Given the description of an element on the screen output the (x, y) to click on. 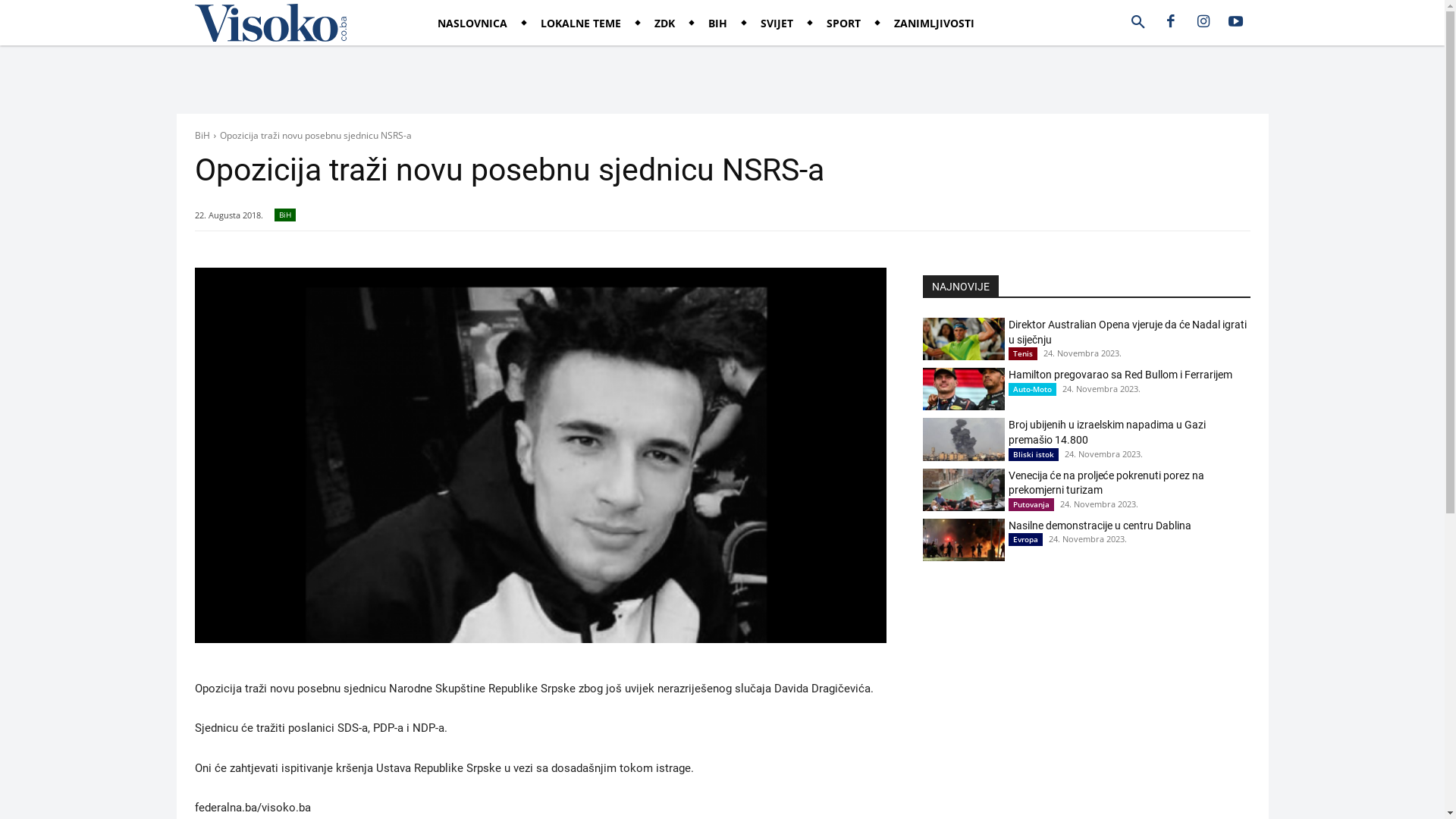
Facebook Element type: hover (1169, 22)
BIH Element type: text (717, 23)
BiH Element type: text (201, 134)
Nasilne demonstracije u centru Dablina Element type: text (1099, 525)
Instagram Element type: hover (1203, 22)
LOKALNE TEME Element type: text (580, 23)
Putovanja Element type: text (1031, 504)
Auto-Moto Element type: text (1032, 388)
Youtube Element type: hover (1234, 22)
Hamilton pregovarao sa Red Bullom i Ferrarijem Element type: text (1120, 374)
Tenis Element type: text (1022, 353)
BiH Element type: text (284, 214)
ZANIMLJIVOSTI Element type: text (933, 23)
SVIJET Element type: text (776, 23)
Nasilne demonstracije u centru Dablina Element type: hover (963, 539)
NASLOVNICA Element type: text (472, 23)
Hamilton pregovarao sa Red Bullom i Ferrarijem Element type: hover (963, 388)
Bliski istok Element type: text (1033, 454)
ZDK Element type: text (664, 23)
Evropa Element type: text (1025, 539)
SPORT Element type: text (843, 23)
